Given the description of an element on the screen output the (x, y) to click on. 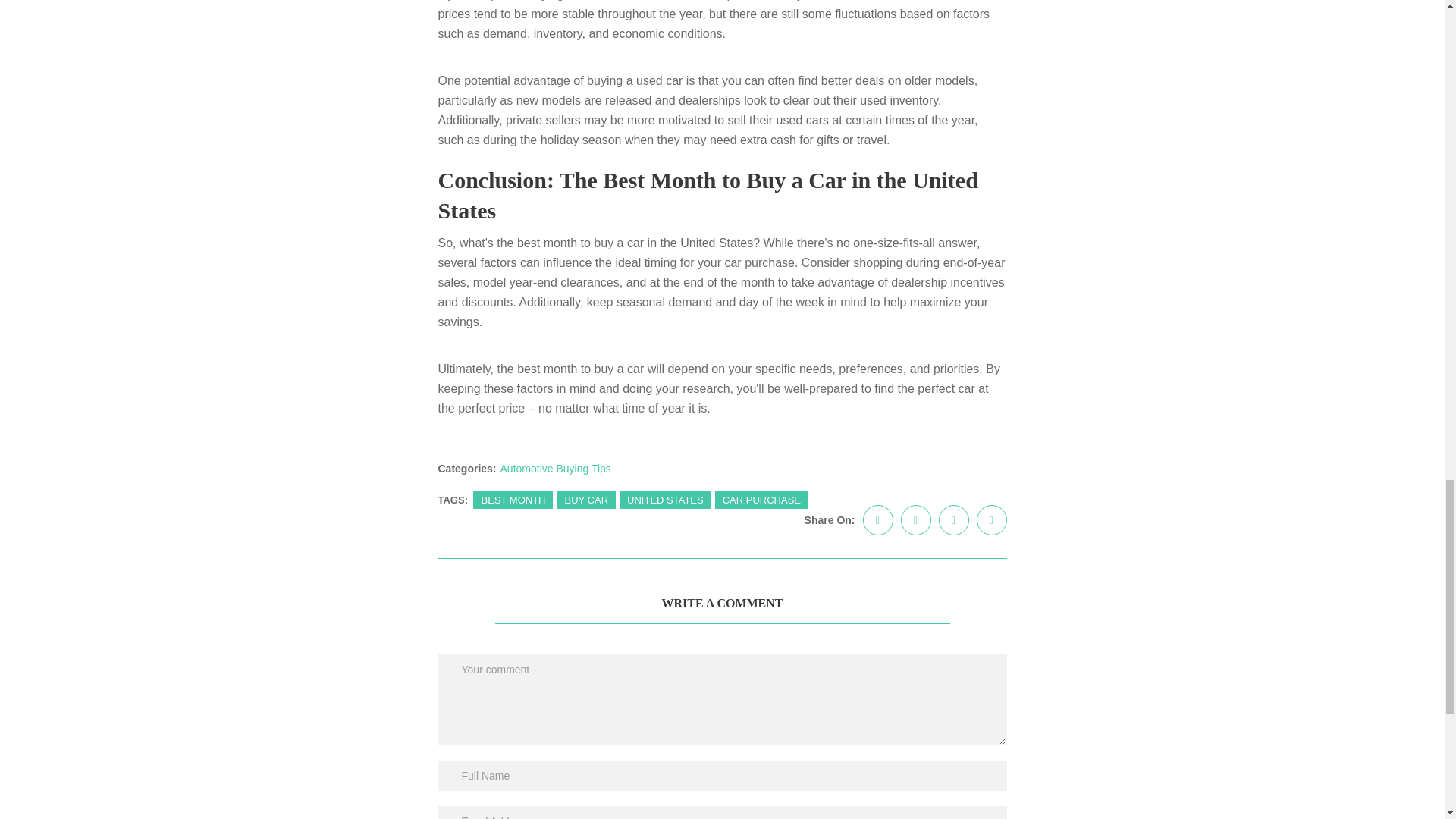
UNITED STATES (665, 499)
BUY CAR (585, 499)
Automotive Buying Tips (555, 468)
Share on Linkedin (954, 520)
Share on Facebook (878, 520)
BEST MONTH (513, 499)
Share on Twitter (916, 520)
CAR PURCHASE (761, 499)
Share on Reddit (991, 520)
